Given the description of an element on the screen output the (x, y) to click on. 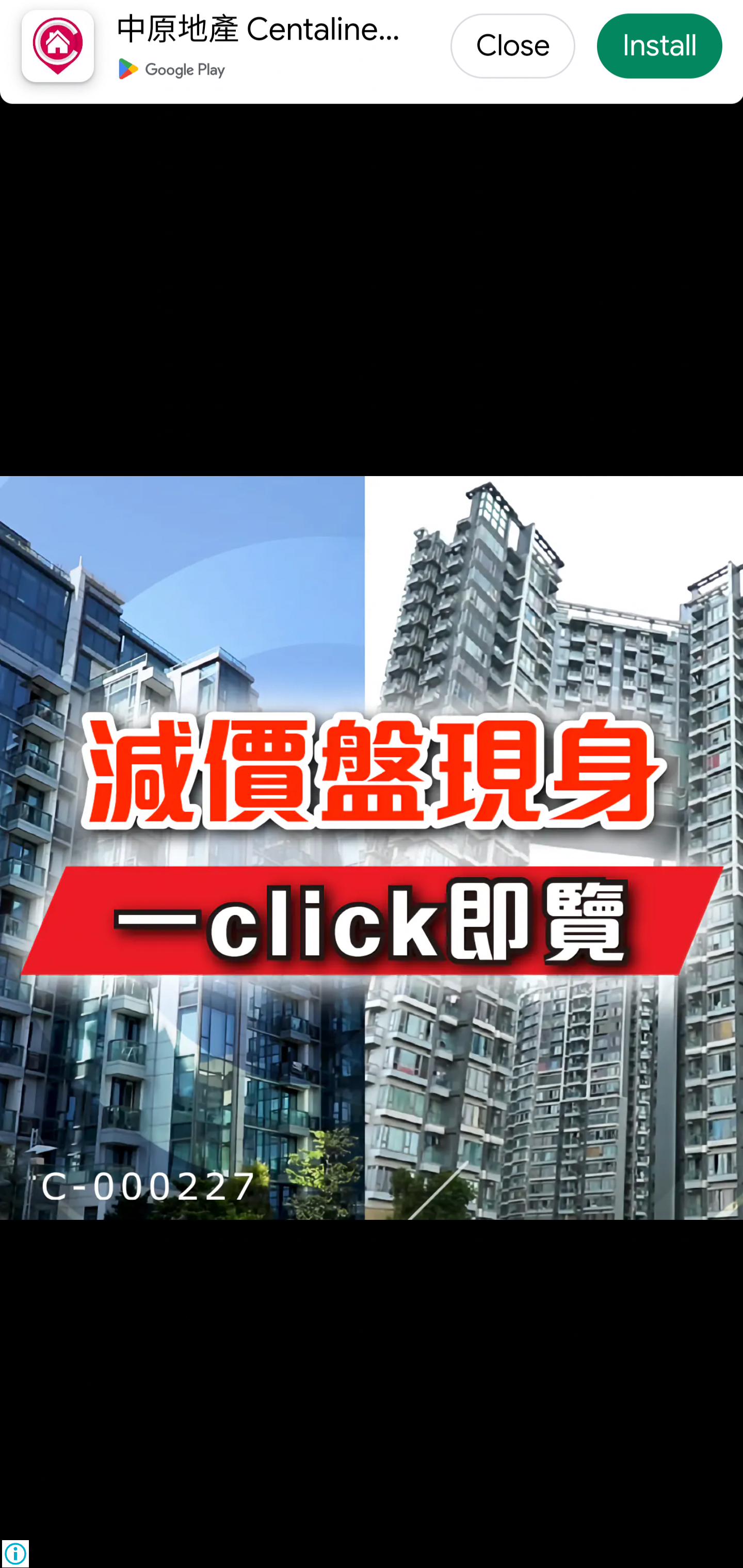
Close (512, 42)
Install (659, 42)
